Given the description of an element on the screen output the (x, y) to click on. 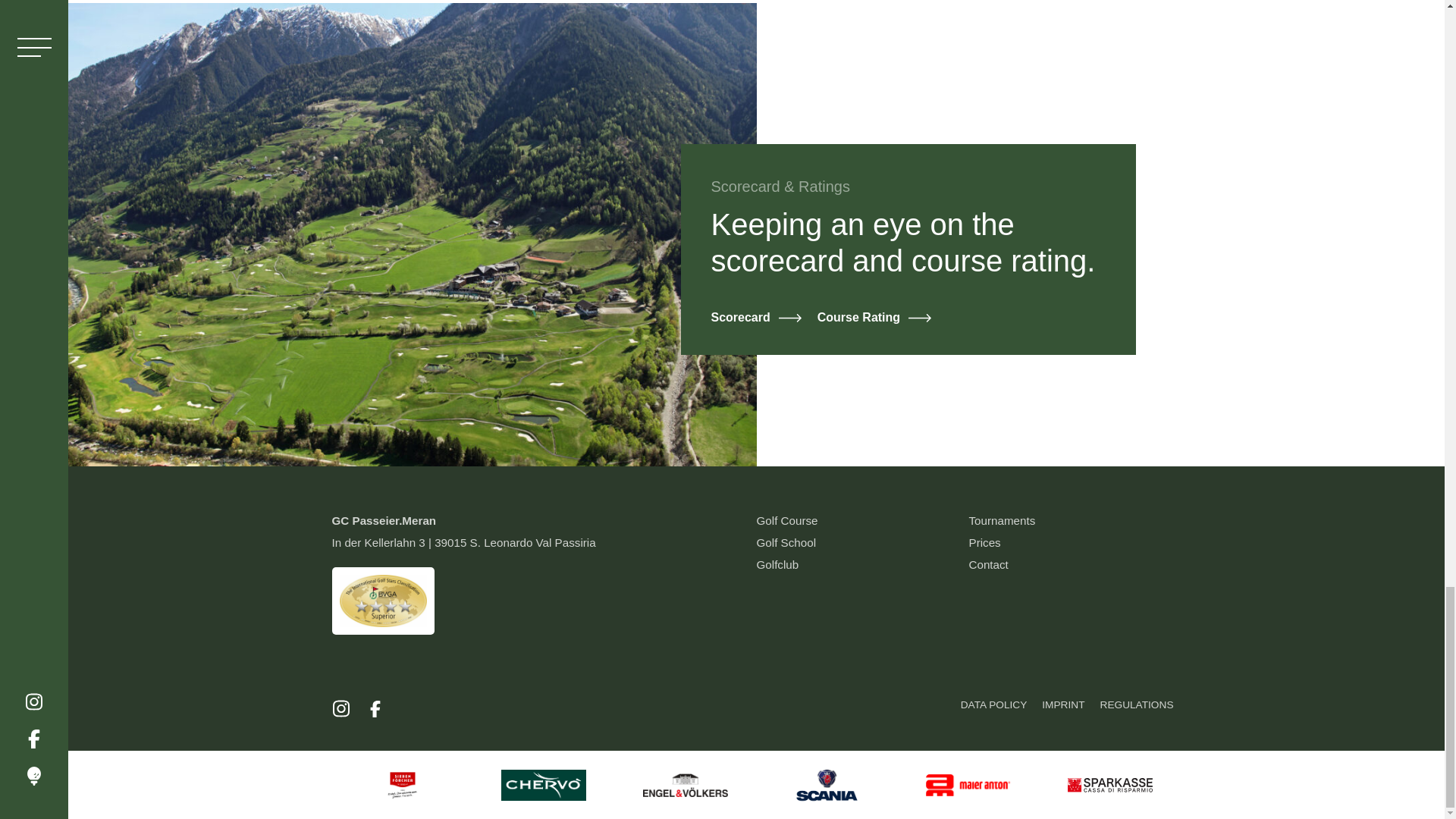
Golf School (786, 542)
REGULATIONS (1136, 709)
DATA POLICY (993, 709)
Scorecard (756, 316)
Contact (989, 563)
Golf Course (787, 520)
Tournaments (1002, 520)
Prices (985, 542)
Course Rating (873, 316)
Golfclub (778, 563)
IMPRINT (1063, 709)
